Given the description of an element on the screen output the (x, y) to click on. 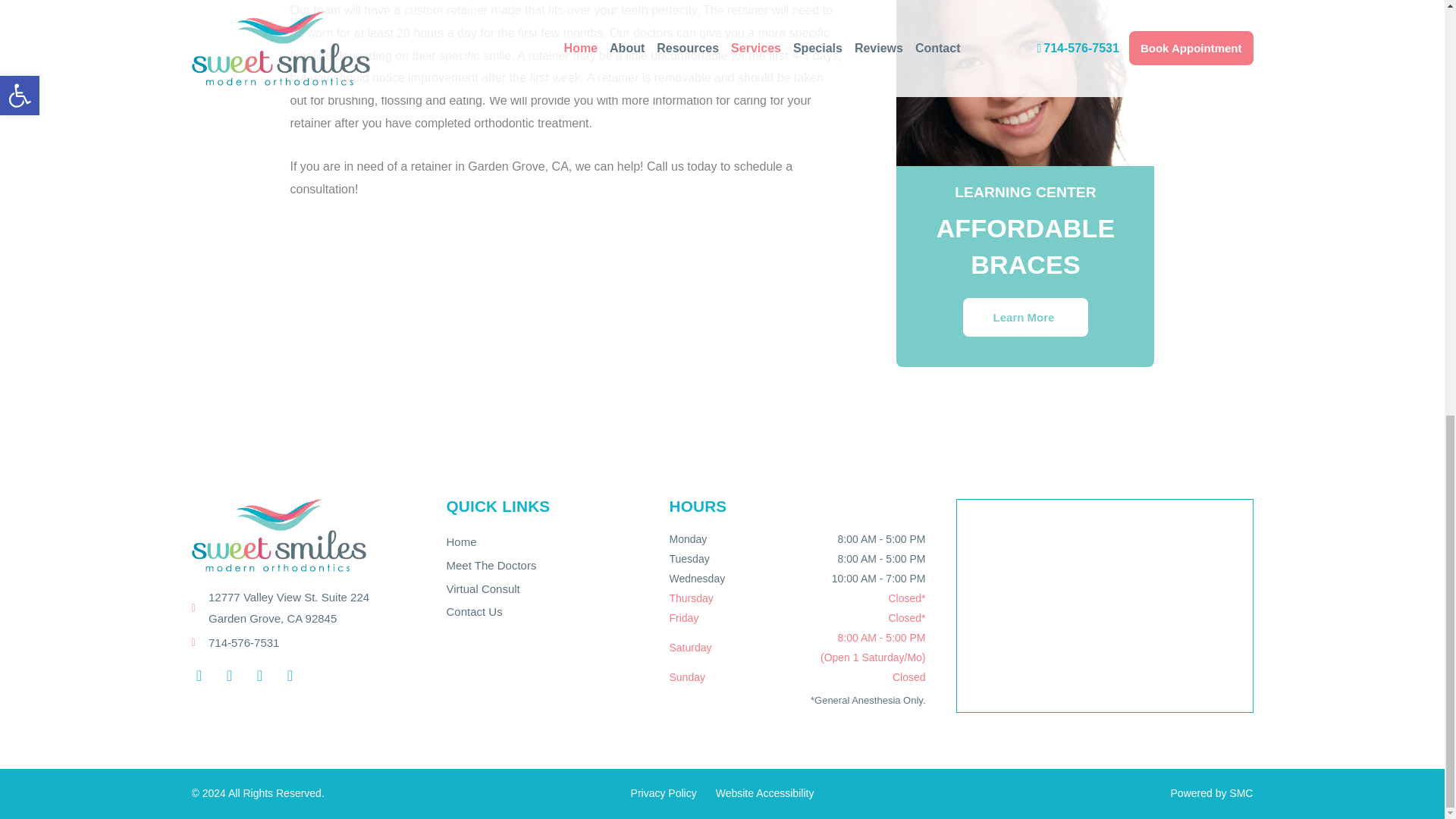
Sweet Smiles Garden Grove, CA (1104, 605)
